Given the description of an element on the screen output the (x, y) to click on. 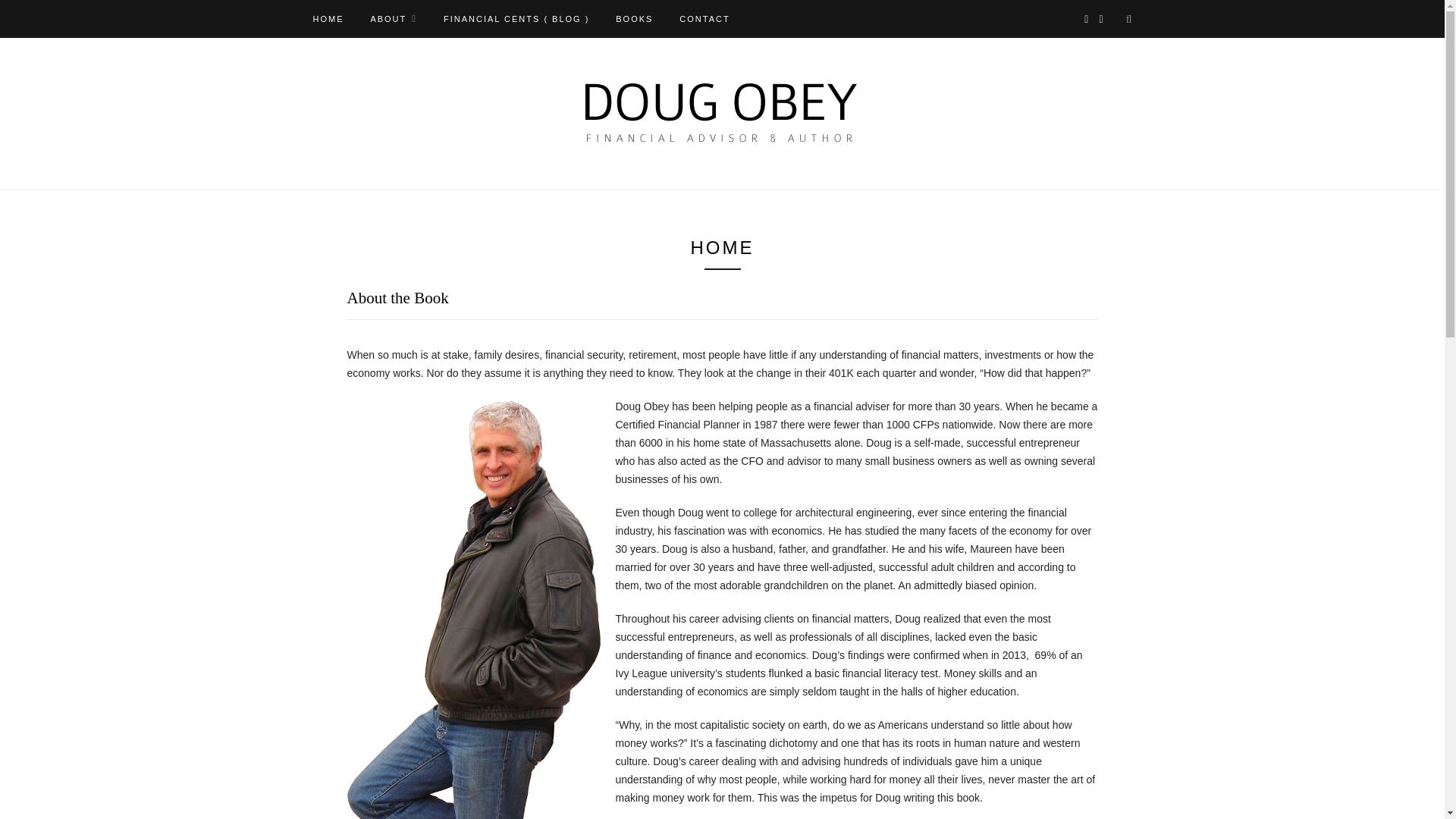
HOME (328, 18)
ABOUT (392, 18)
BOOKS (633, 18)
CONTACT (704, 18)
